Given the description of an element on the screen output the (x, y) to click on. 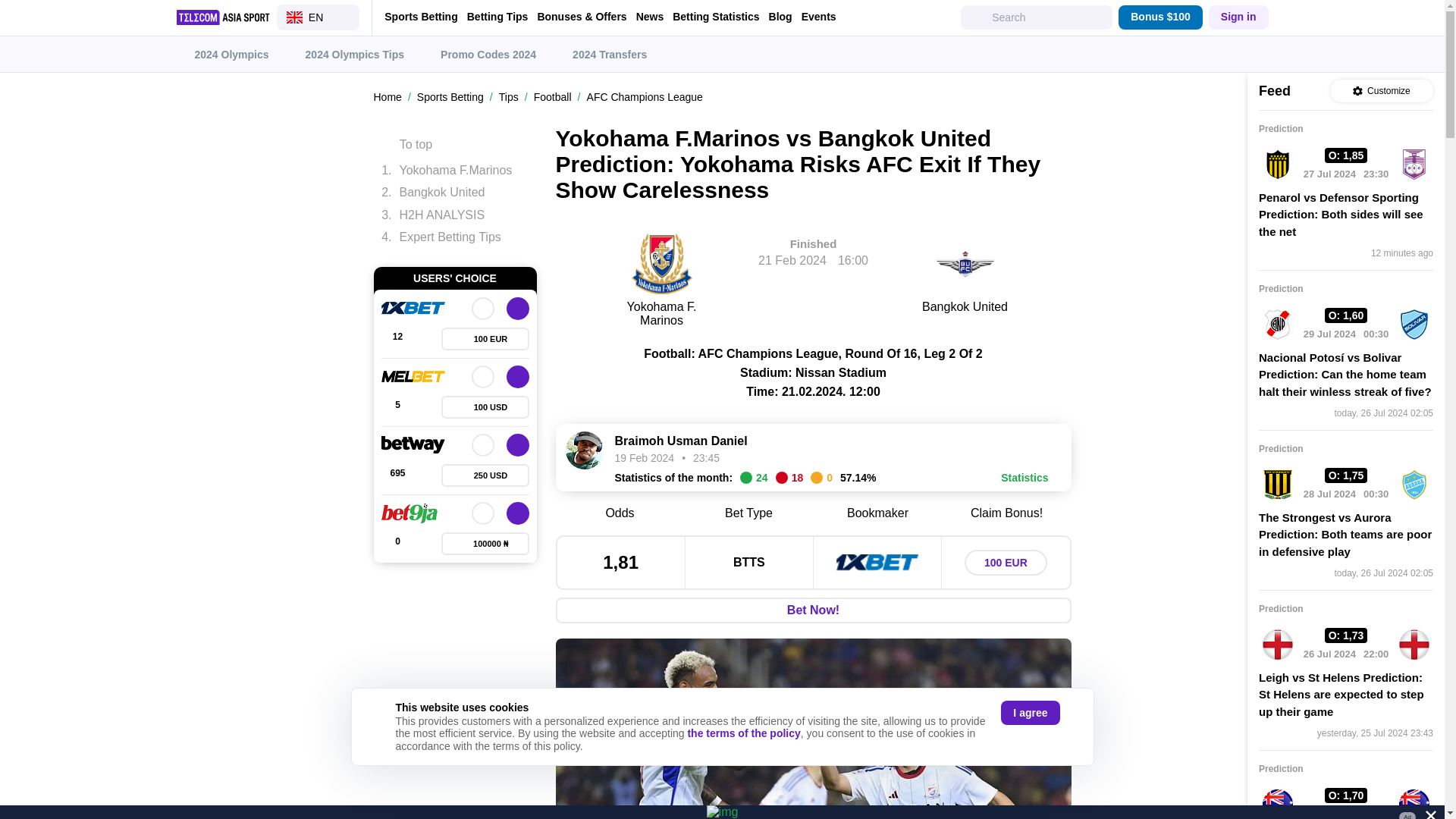
To the website (517, 513)
Reviews (396, 475)
Reviews (396, 406)
Bonuses (485, 543)
OVERVIEW (483, 513)
Bonuses (485, 475)
Sports Betting (420, 16)
To the website (517, 376)
Reviews (396, 338)
To the website (517, 445)
OVERVIEW (483, 376)
Bonuses (485, 338)
EN (317, 17)
Reviews (396, 543)
Bonuses (485, 406)
